Given the description of an element on the screen output the (x, y) to click on. 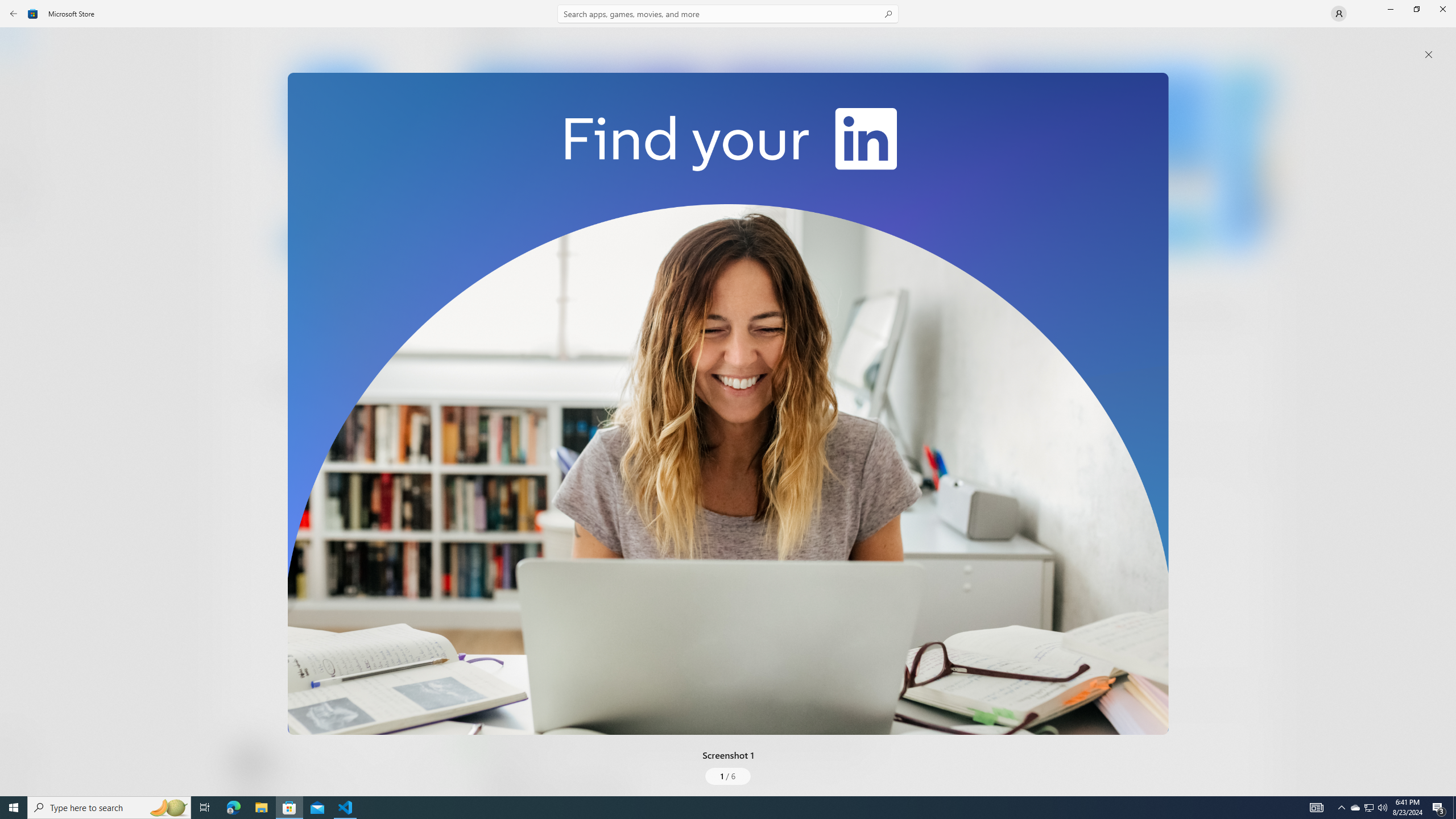
AutomationID: NavigationControl (728, 398)
See all (1253, 41)
Back (13, 13)
3.9 stars. Click to skip to ratings and reviews (307, 315)
Search (727, 13)
Social (329, 423)
Screenshot 2 (836, 158)
LinkedIn (332, 189)
Screenshot 3 (1089, 158)
